Given the description of an element on the screen output the (x, y) to click on. 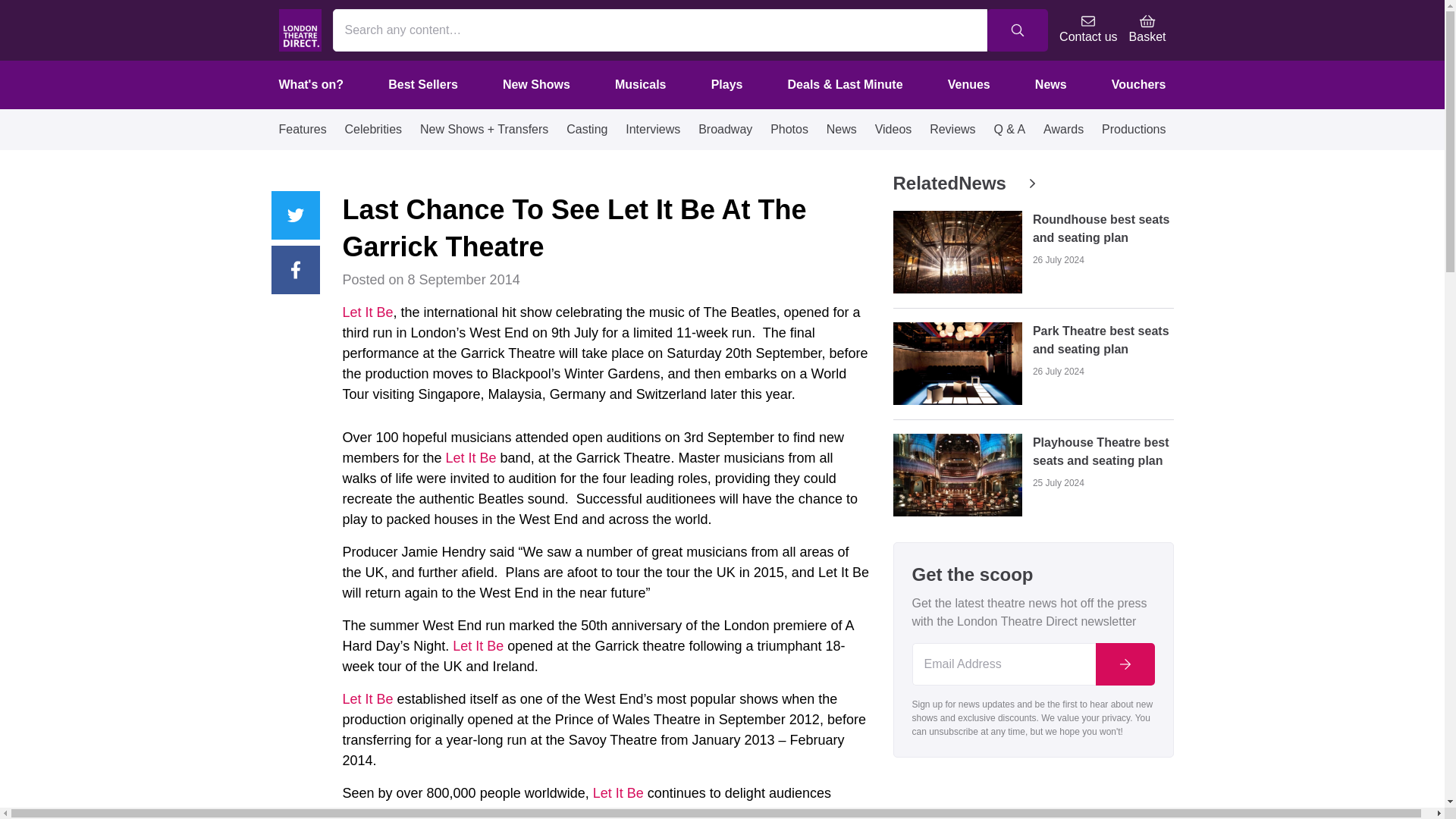
Share on Twitter (295, 214)
New Shows (536, 84)
Basket (1147, 29)
News (1050, 84)
Venues (968, 84)
Plays (727, 84)
Contact us (1087, 29)
Vouchers (1138, 84)
Share on Facebook (295, 269)
Contact us (1087, 29)
Musicals (641, 84)
What's on? (310, 84)
Best Sellers (422, 84)
Basket (1147, 29)
